Given the description of an element on the screen output the (x, y) to click on. 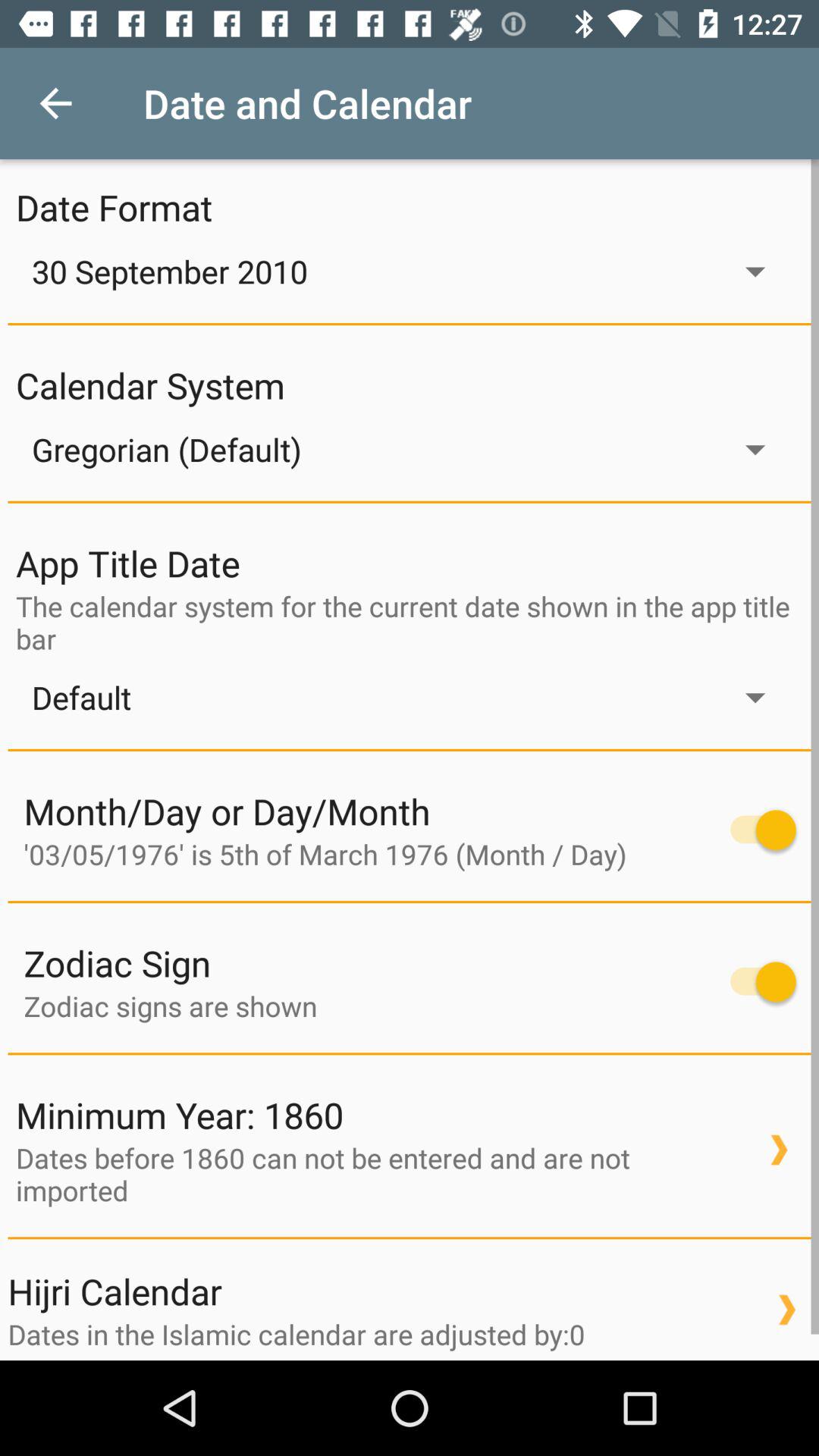
toggle day/month format (755, 830)
